Given the description of an element on the screen output the (x, y) to click on. 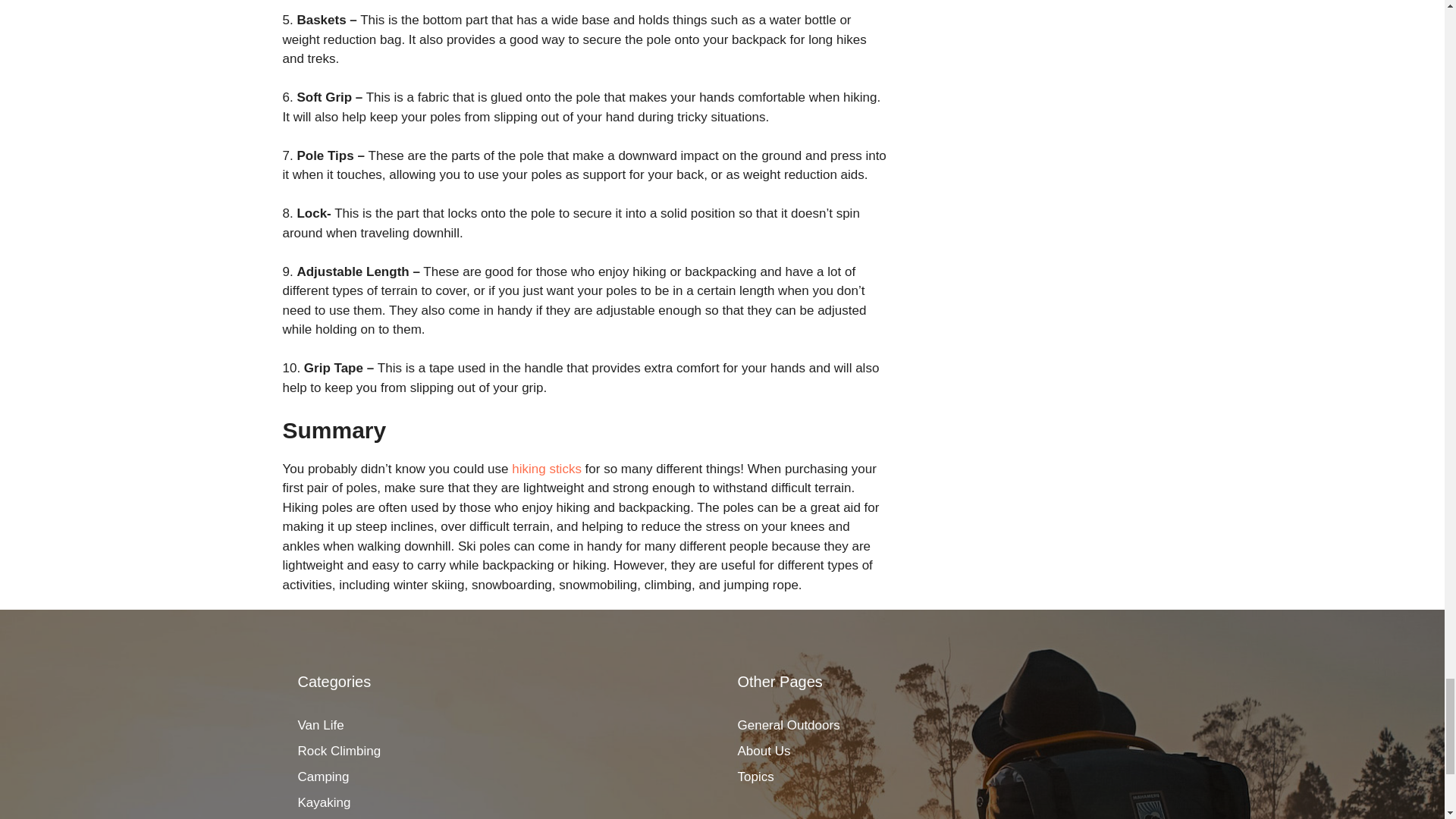
hiking sticks (546, 468)
Van Life (320, 725)
Camping (323, 776)
General Outdoors (788, 725)
About Us (763, 750)
Topics (754, 776)
Kayaking (323, 802)
Rock Climbing (338, 750)
